Given the description of an element on the screen output the (x, y) to click on. 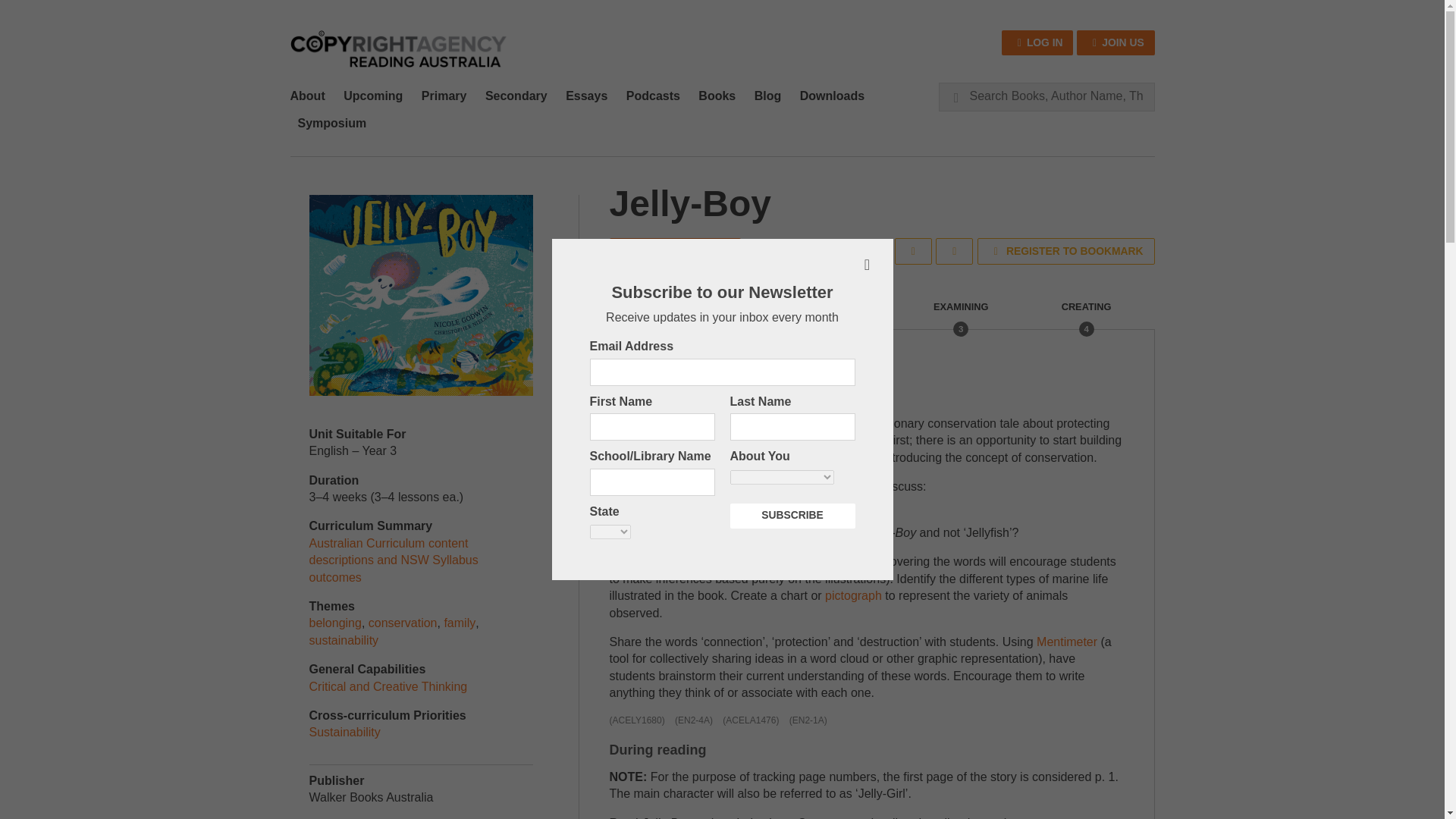
Essays (585, 95)
Search for: (1046, 95)
Blog (767, 95)
CREATING (1085, 314)
EXAMINING (960, 314)
Mentimeter (1066, 641)
Downloads (832, 95)
Books (716, 95)
JOIN US (1115, 42)
LITERATURE (691, 314)
